Given the description of an element on the screen output the (x, y) to click on. 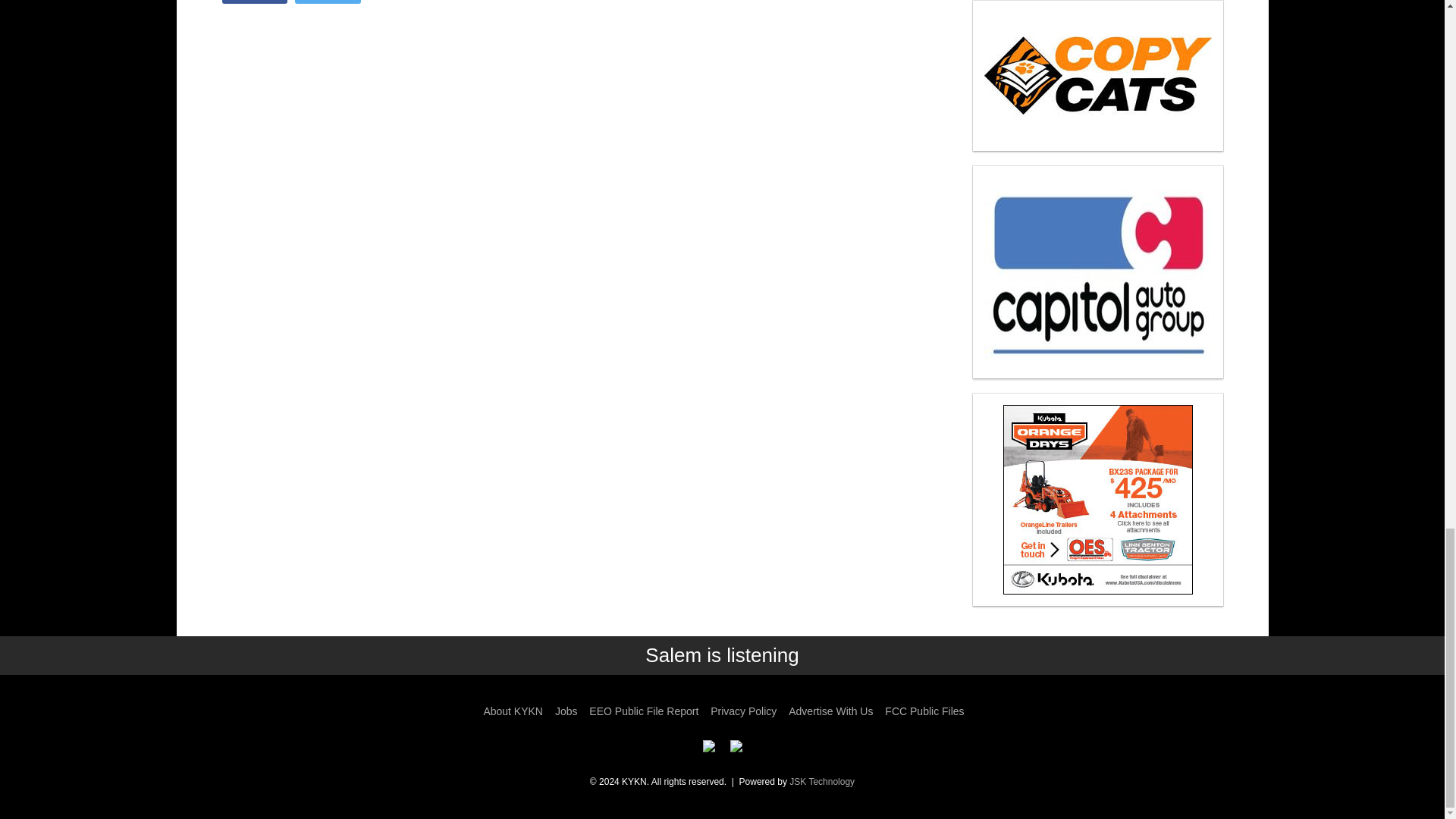
Tweet (327, 2)
Share on Twitter (327, 2)
Share on Facebook (253, 2)
Share (253, 2)
